Given the description of an element on the screen output the (x, y) to click on. 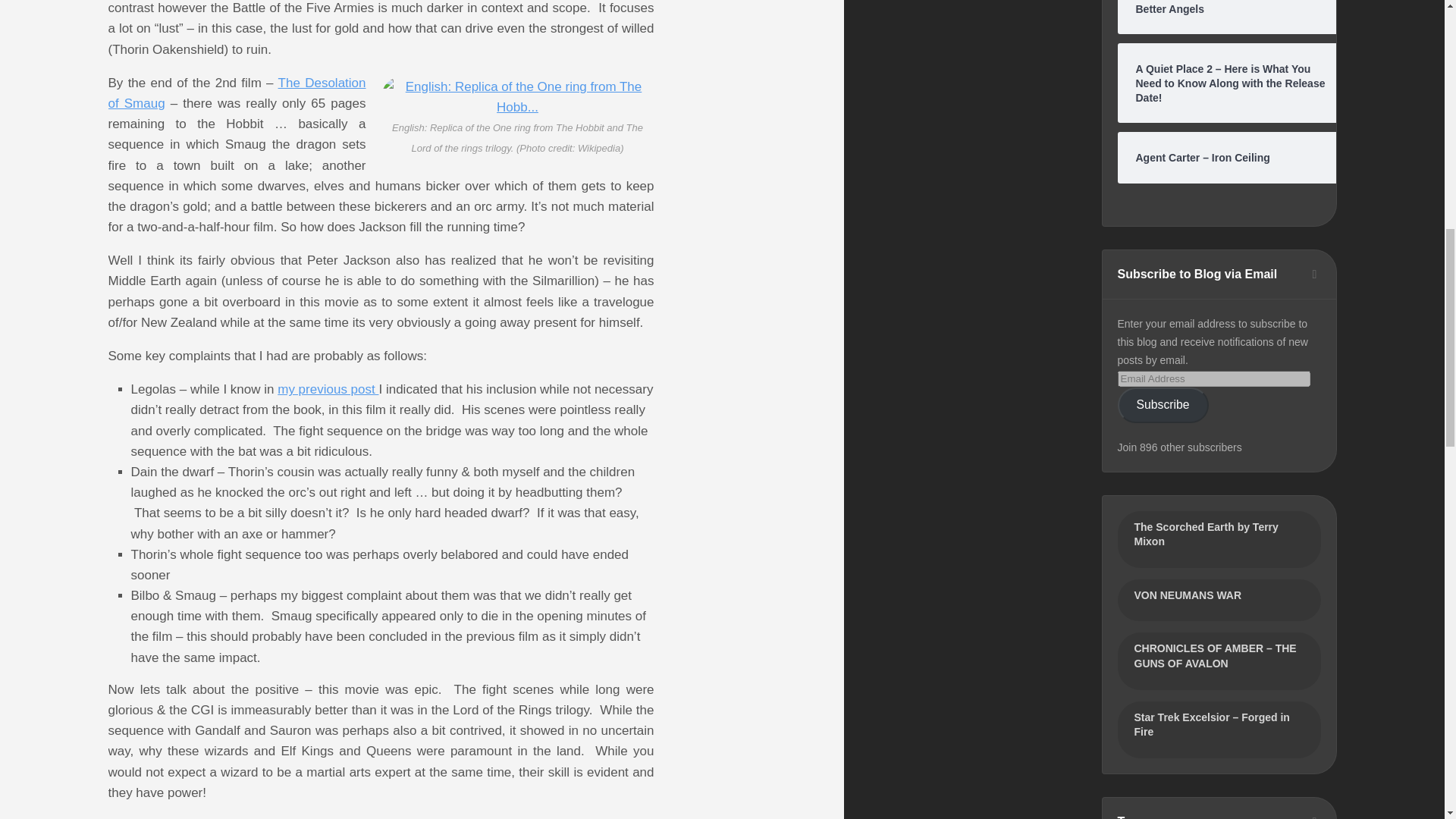
English: Replica of the One ring from The Hobb... (516, 96)
The Hobbit (328, 389)
The Hobbit (236, 93)
